Given the description of an element on the screen output the (x, y) to click on. 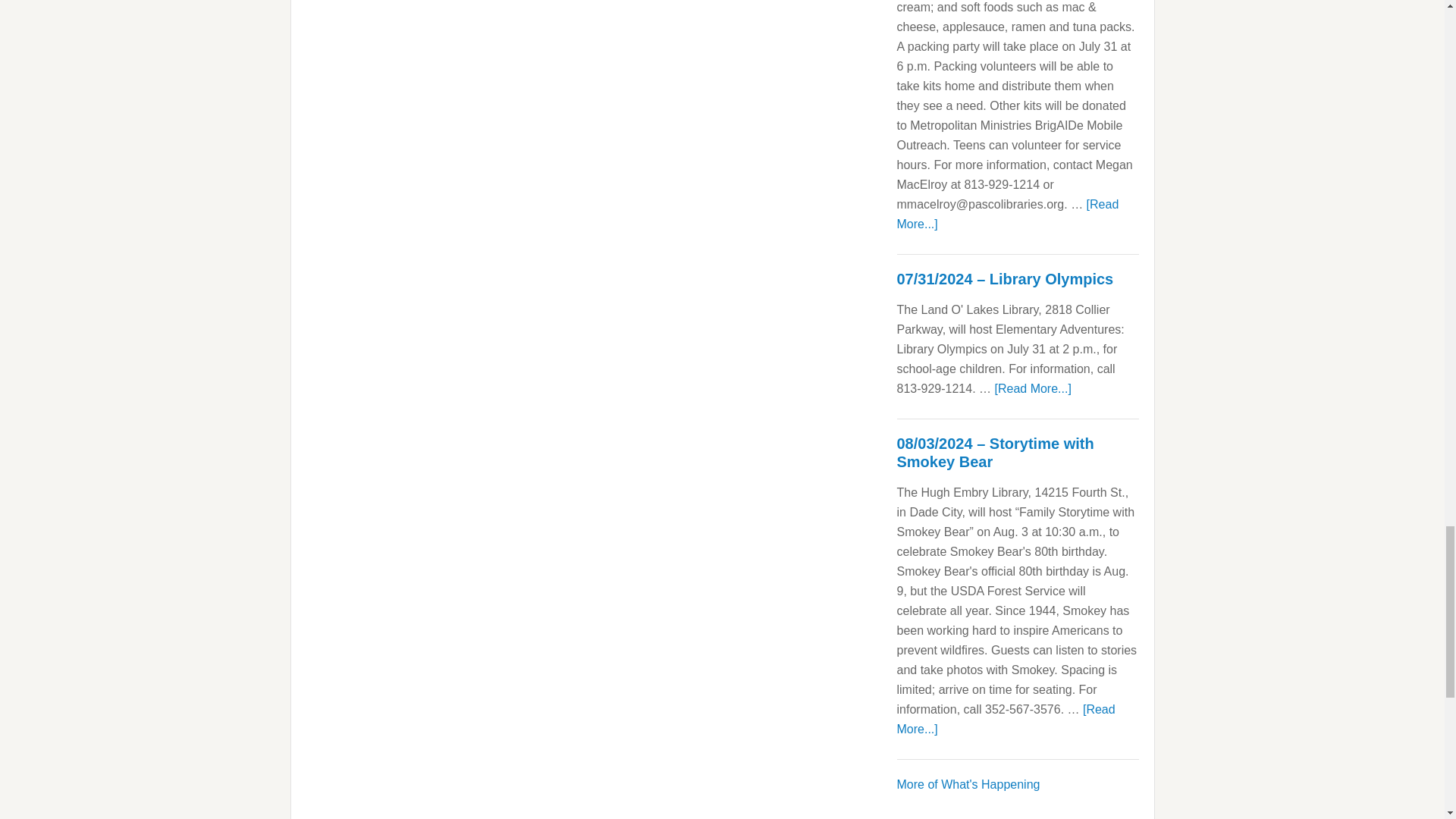
What's Happening (967, 784)
